Given the description of an element on the screen output the (x, y) to click on. 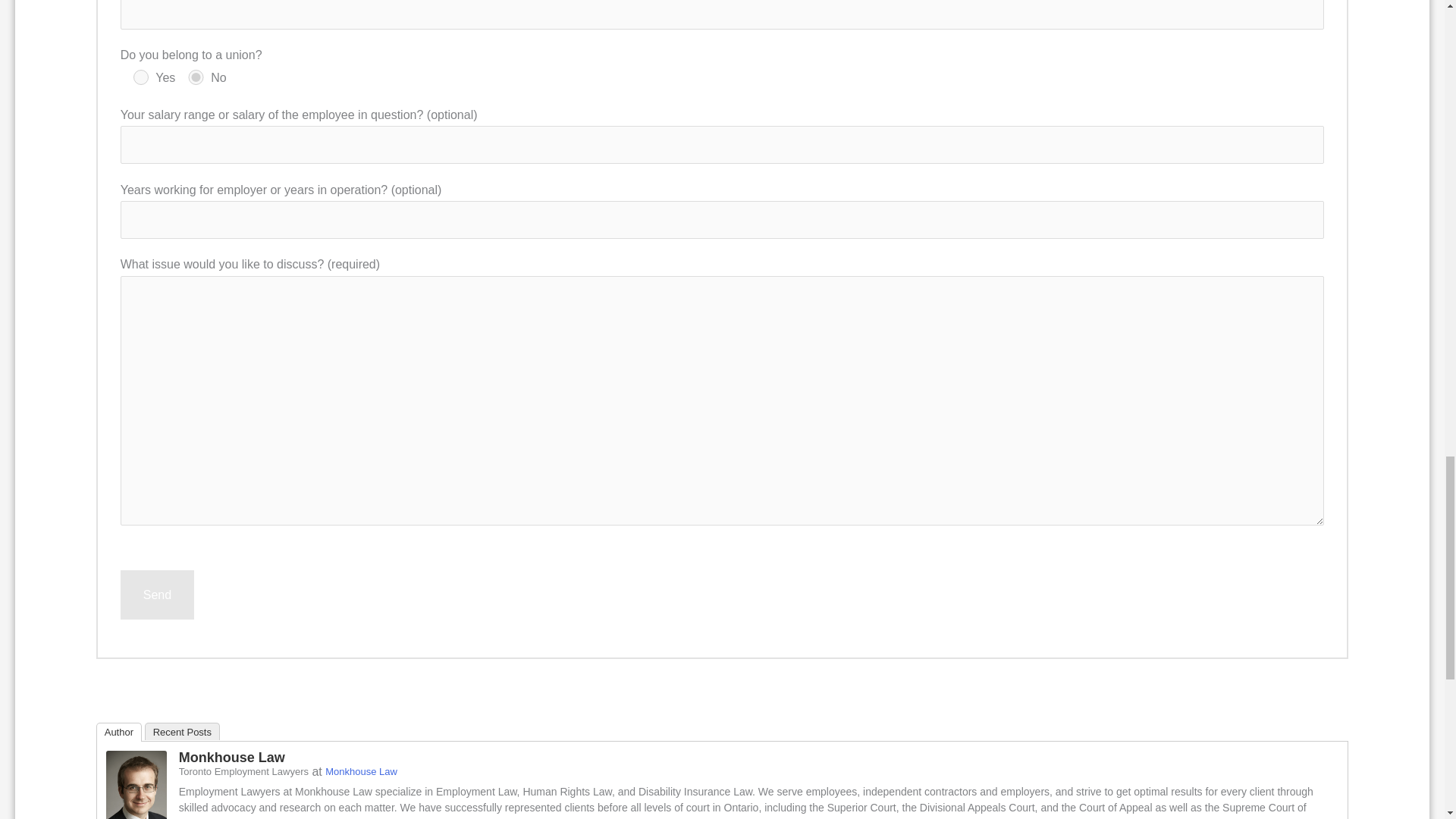
Monkhouse Law (136, 790)
Send (156, 594)
Yes (140, 76)
No (195, 76)
